Given the description of an element on the screen output the (x, y) to click on. 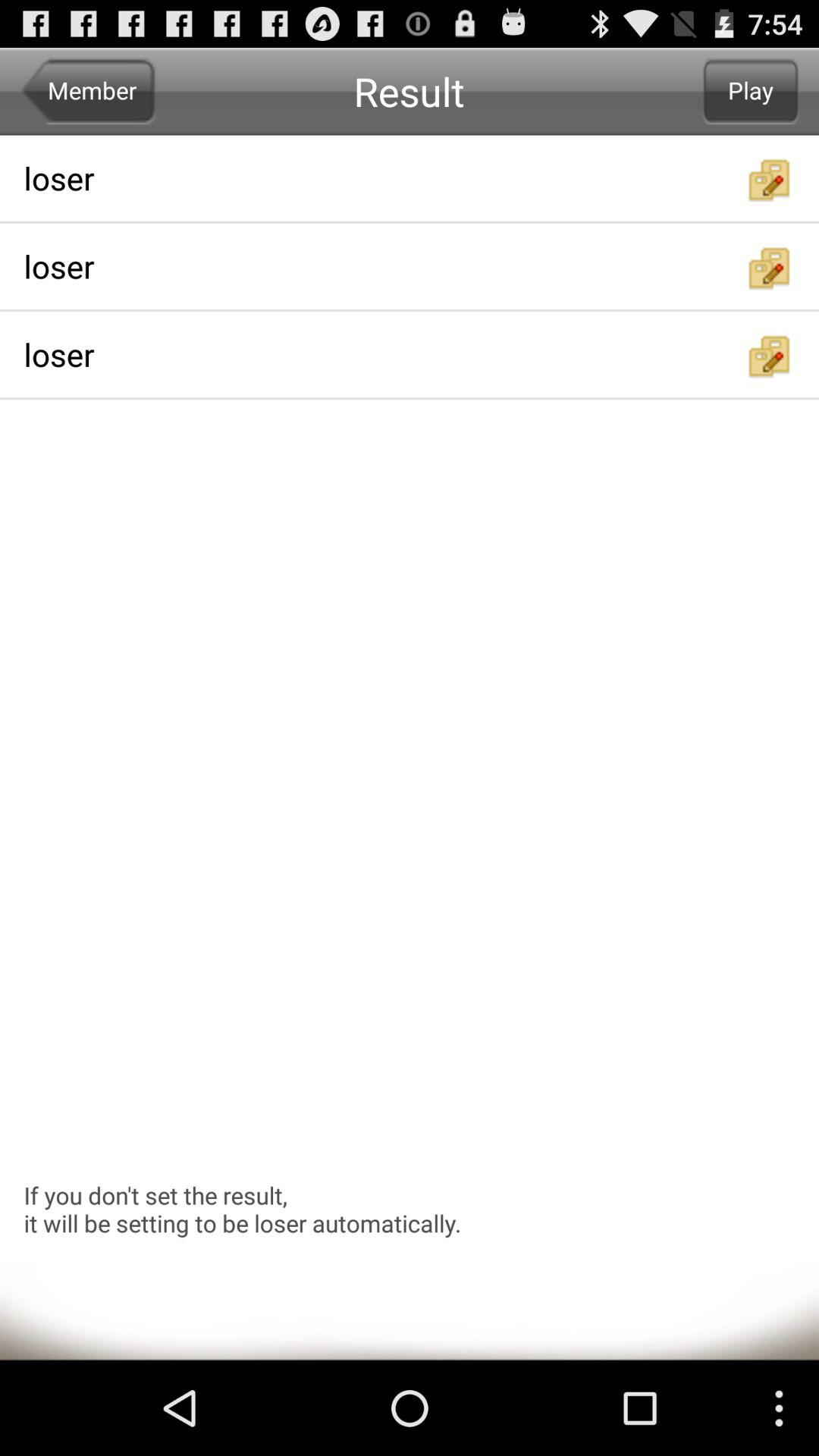
swipe until member icon (87, 91)
